Given the description of an element on the screen output the (x, y) to click on. 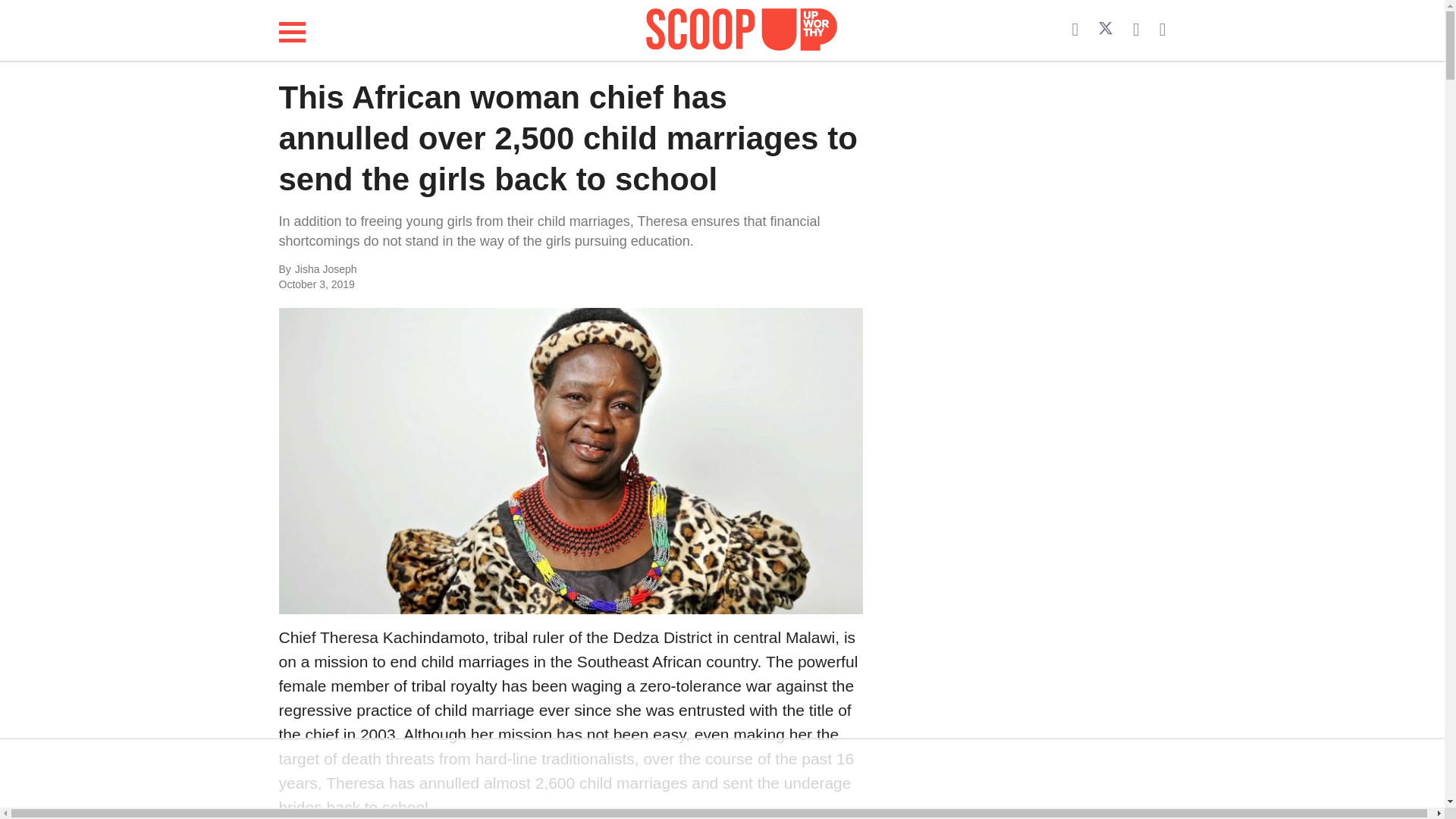
SCOOP UPWORTHY (741, 29)
SCOOP UPWORTHY (741, 27)
Jisha Joseph (445, 269)
